Given the description of an element on the screen output the (x, y) to click on. 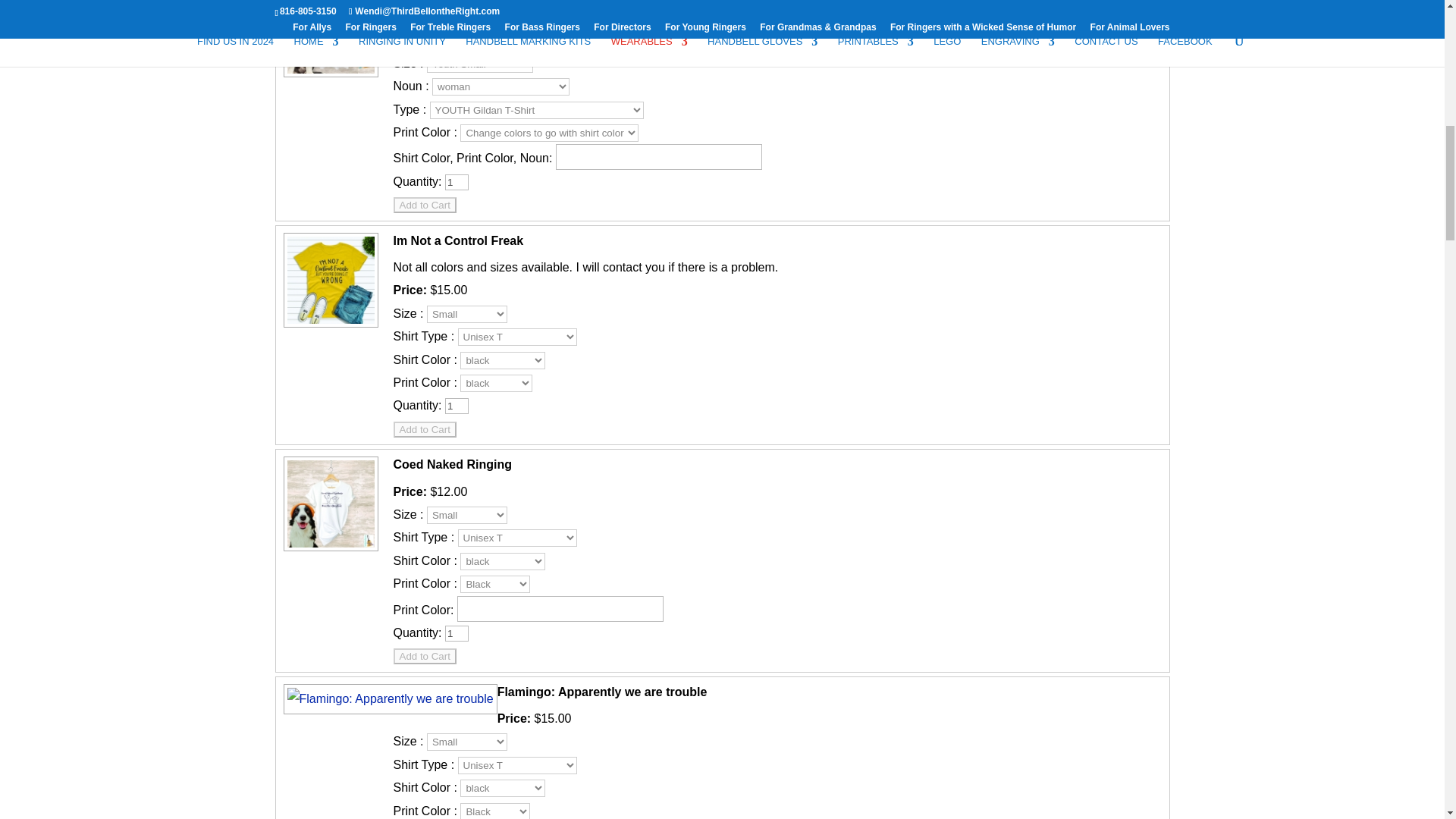
Coed Naked Ringing (328, 549)
1 (456, 182)
Add to Cart (424, 656)
1 (456, 406)
1 (456, 633)
Im Not a Control Freak (328, 326)
Add to Cart (424, 204)
Handbells Never Underestimate the Power (328, 75)
Add to Cart (424, 429)
Flamingo: Apparently we are trouble (387, 698)
